Given the description of an element on the screen output the (x, y) to click on. 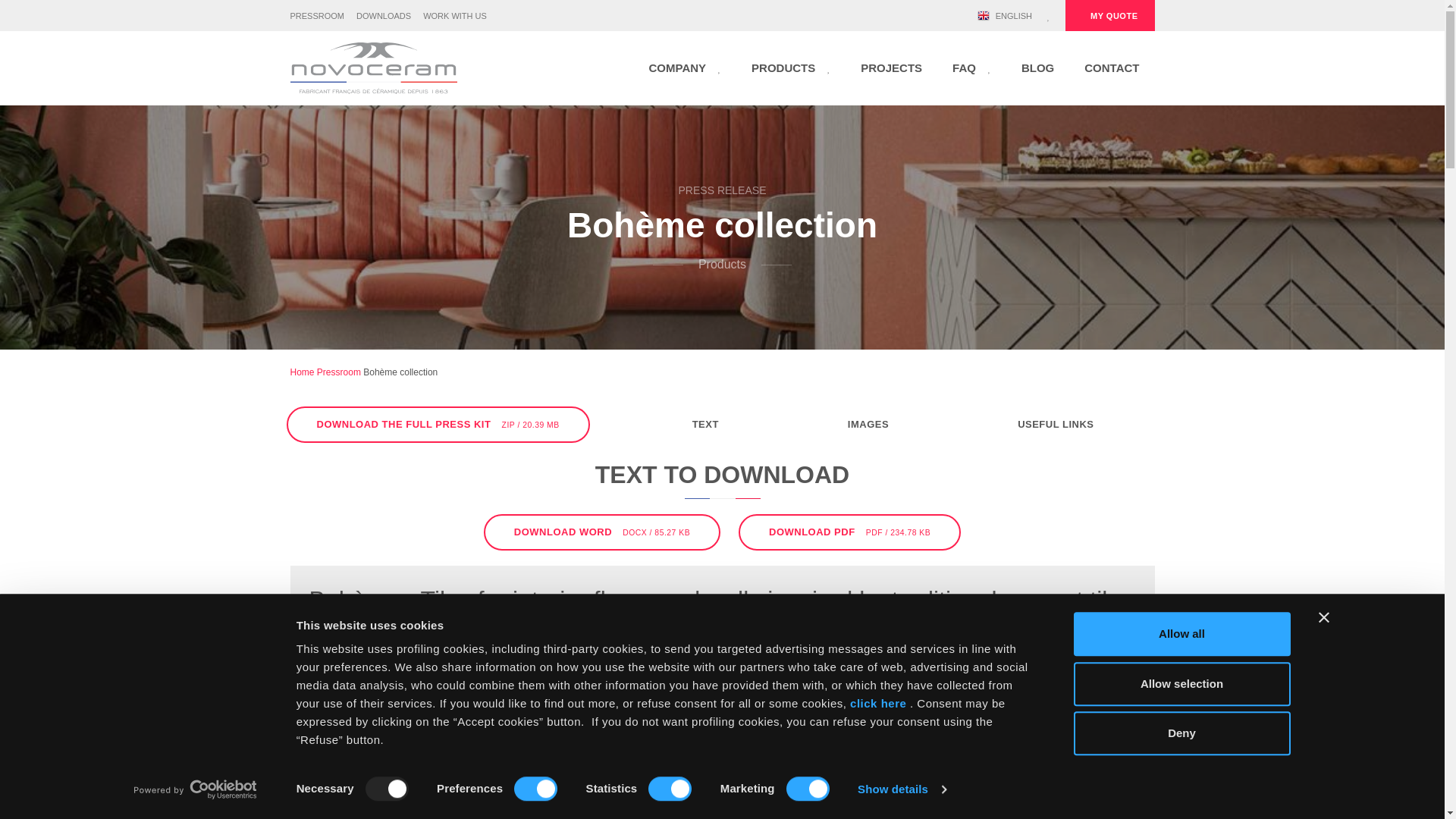
click here (877, 703)
Work with us (454, 15)
Deny (1182, 733)
Allow selection (1182, 683)
Facebook Novoceram (896, 15)
Show details (900, 789)
Pressroom (316, 15)
Downloads (383, 15)
Allow all (1182, 633)
